Given the description of an element on the screen output the (x, y) to click on. 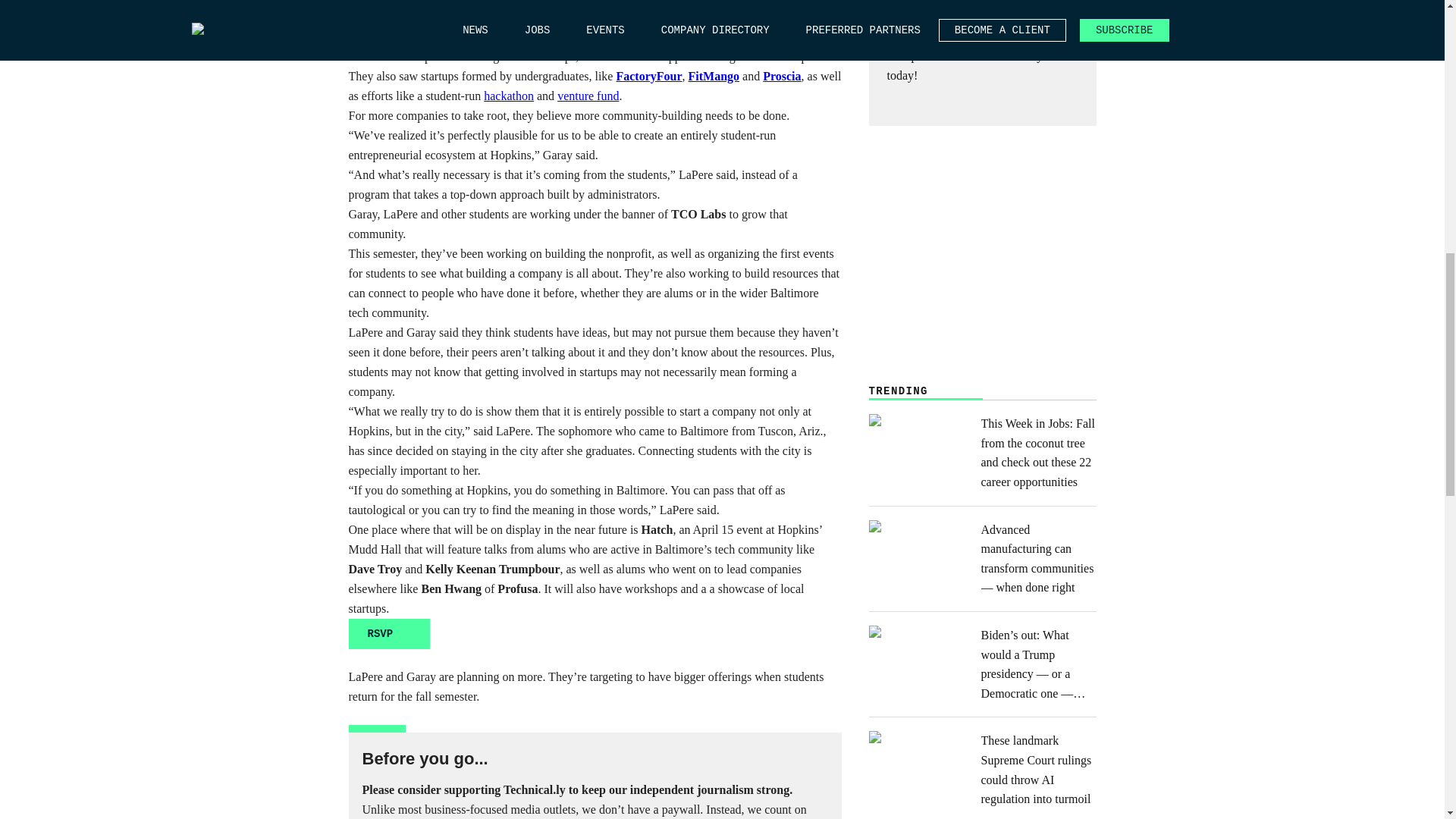
FactoryFour (648, 75)
FitMango (713, 75)
RSVP (389, 634)
Proscia (781, 75)
hackathon (508, 95)
venture fund (587, 95)
Visit link (389, 634)
